Given the description of an element on the screen output the (x, y) to click on. 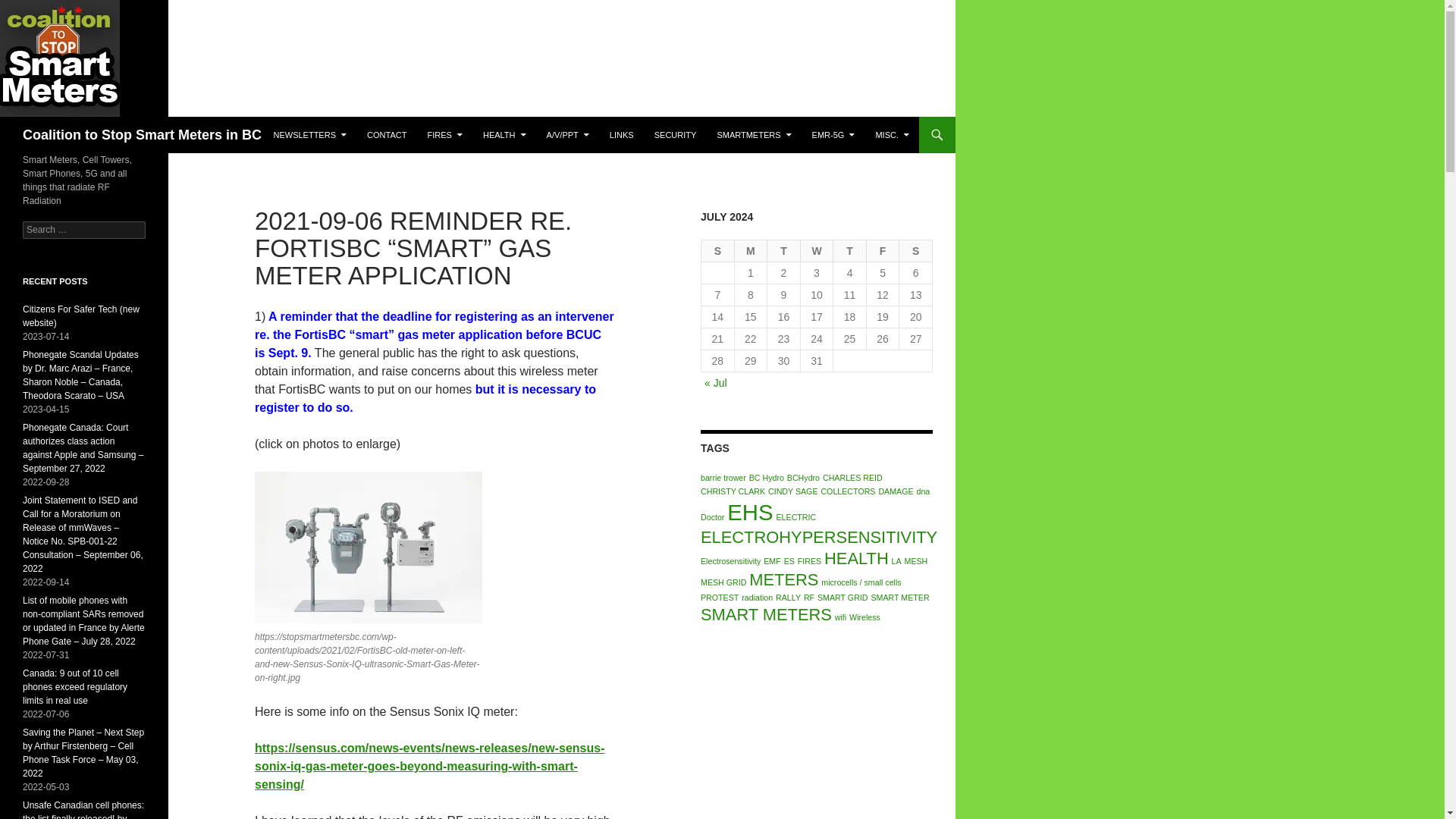
NEWSLETTERS (309, 135)
Friday (882, 251)
Tuesday (783, 251)
Coalition to Stop Smart Meters in BC (142, 135)
Monday (751, 251)
Saturday (916, 251)
Sunday (718, 251)
Wednesday (817, 251)
Thursday (849, 251)
